Given the description of an element on the screen output the (x, y) to click on. 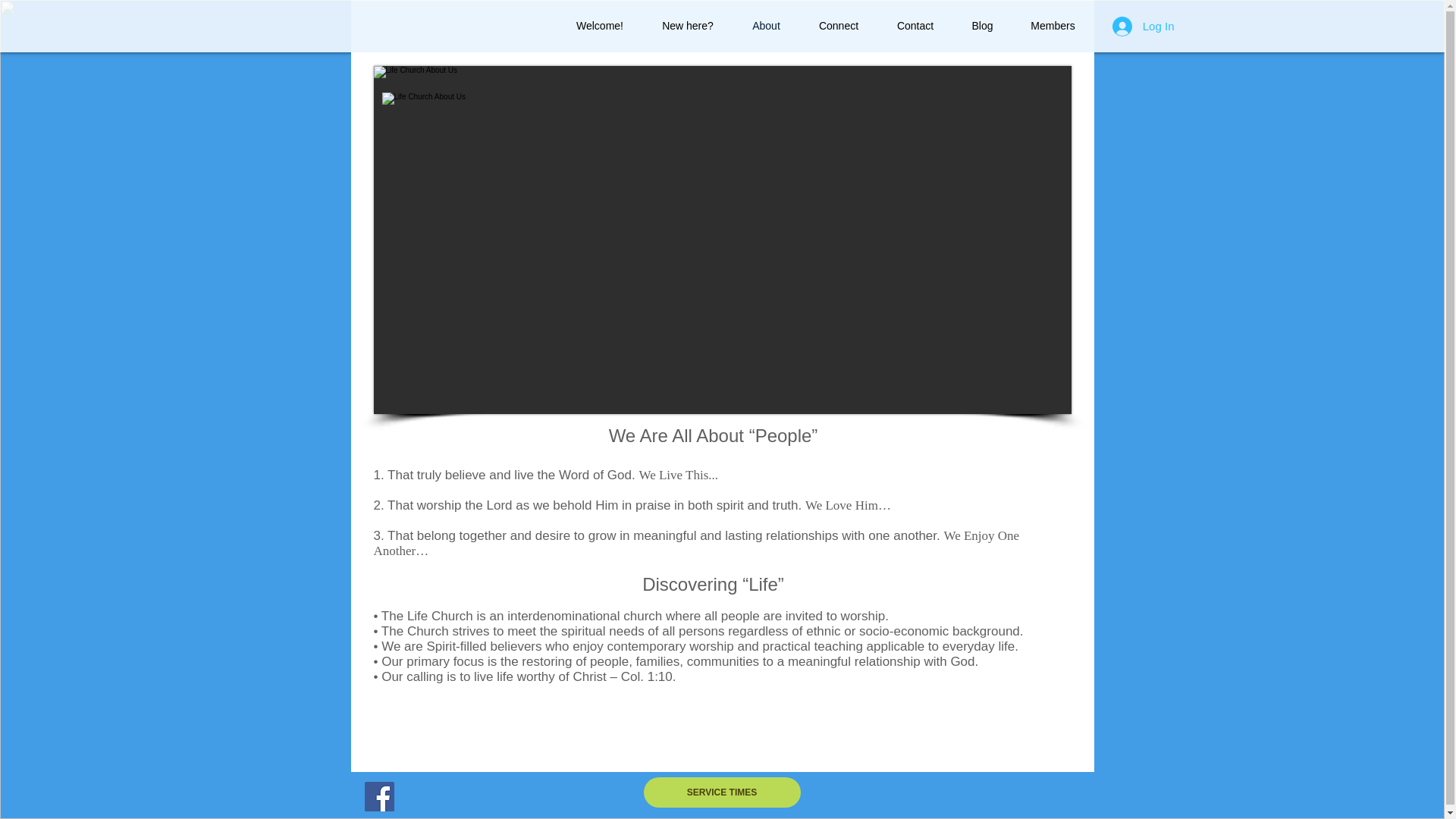
Members (1052, 25)
Welcome! (599, 25)
SERVICE TIMES (721, 792)
New here? (688, 25)
Blog (981, 25)
Life-Church-Logo-fina- glow.png (473, 184)
About (765, 25)
Connect (838, 25)
Contact (915, 25)
Log In (1143, 26)
